Given the description of an element on the screen output the (x, y) to click on. 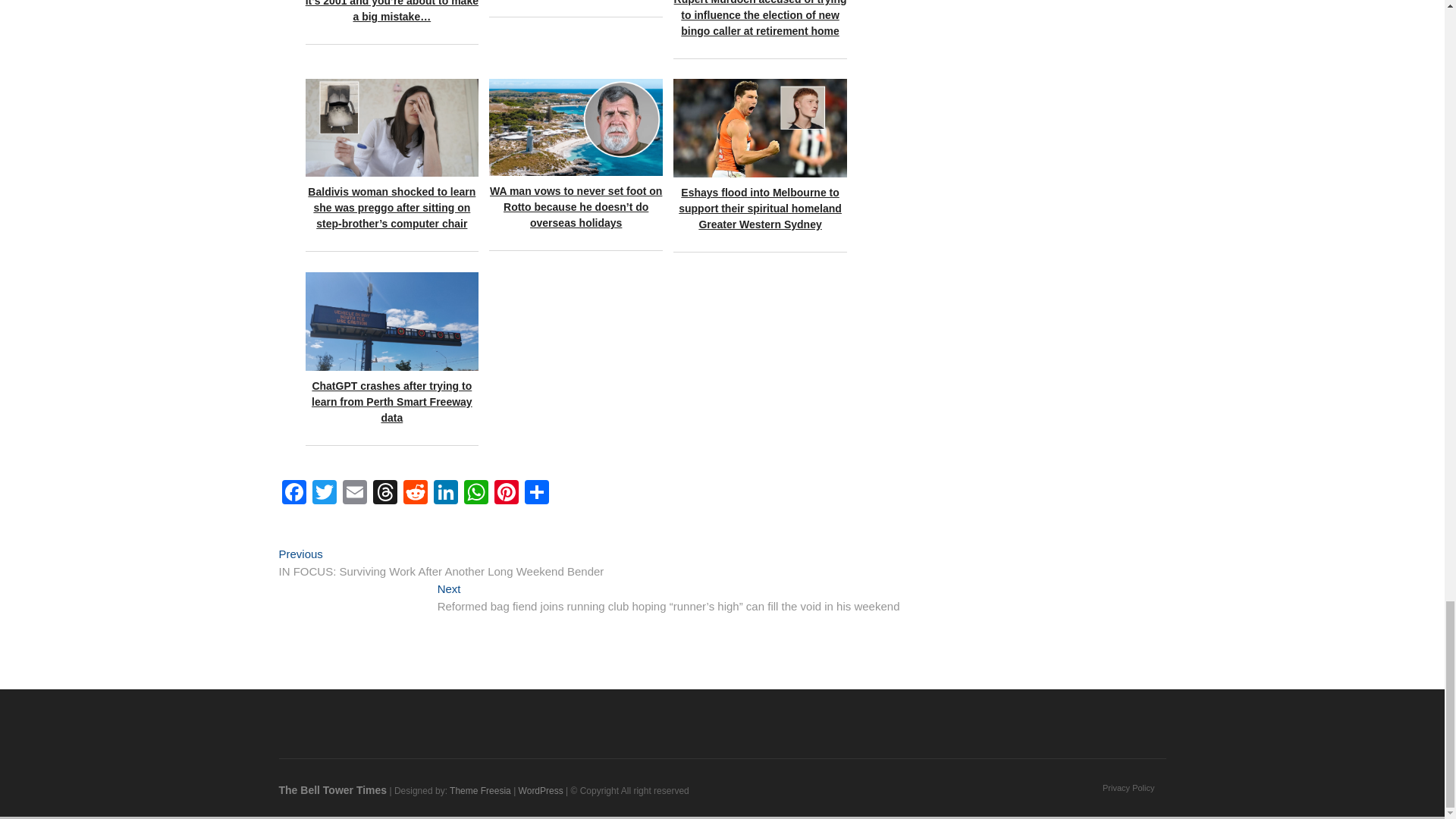
Twitter (323, 493)
Facebook (293, 493)
Email (354, 493)
